Given the description of an element on the screen output the (x, y) to click on. 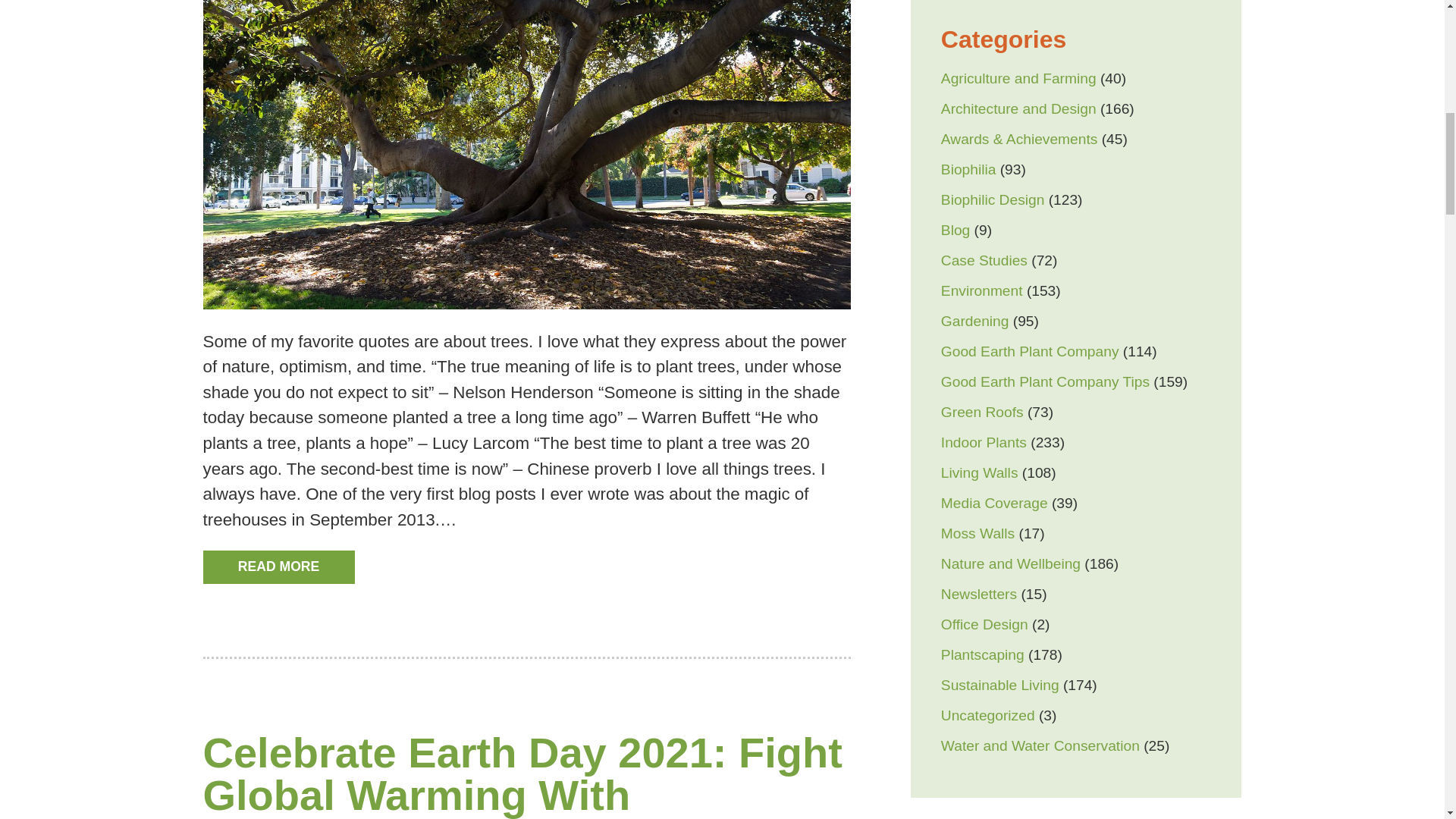
San Diego Tree Week: Calling All Treehuggers! (526, 303)
